Given the description of an element on the screen output the (x, y) to click on. 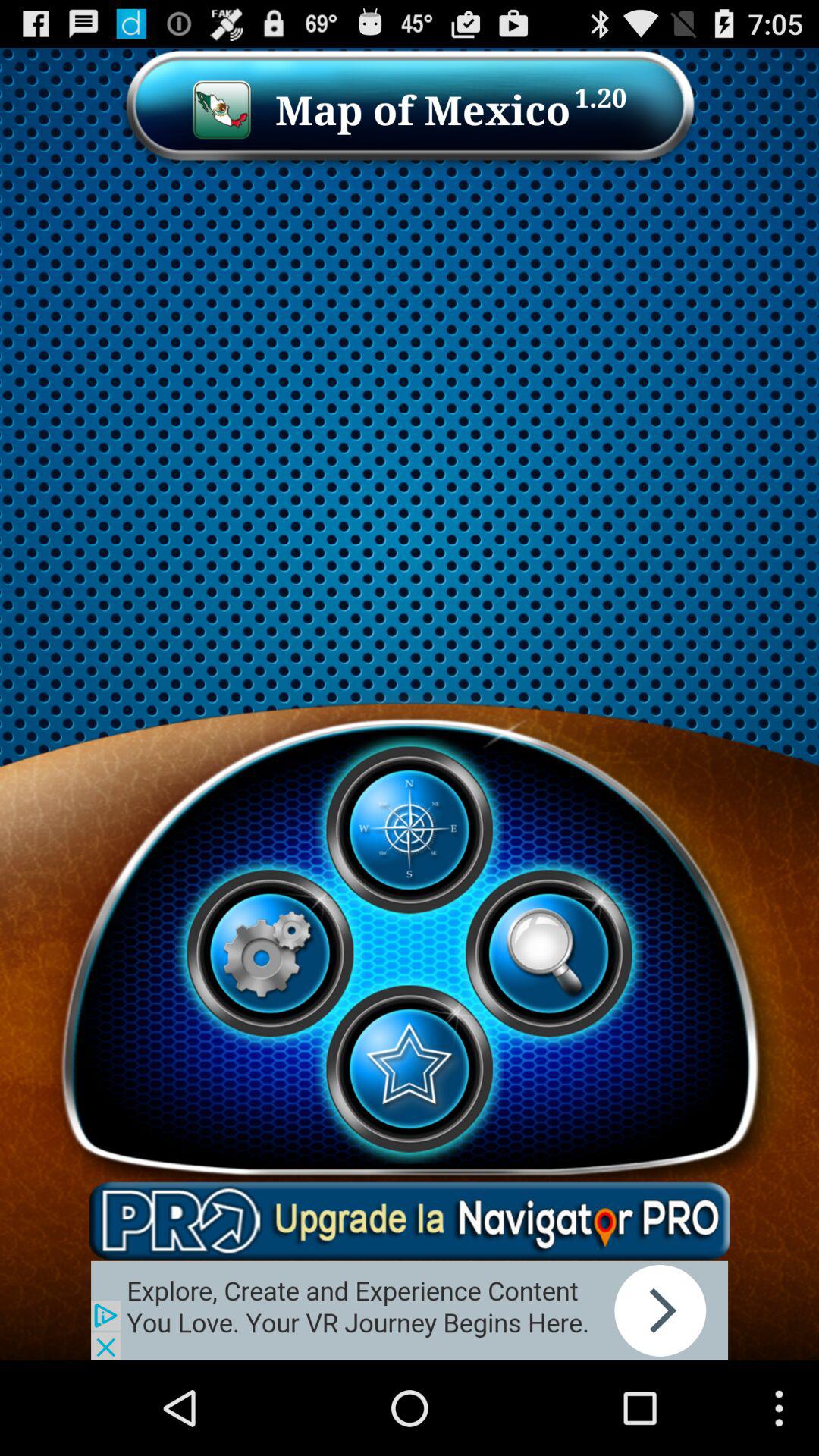
go to setting (269, 953)
